Given the description of an element on the screen output the (x, y) to click on. 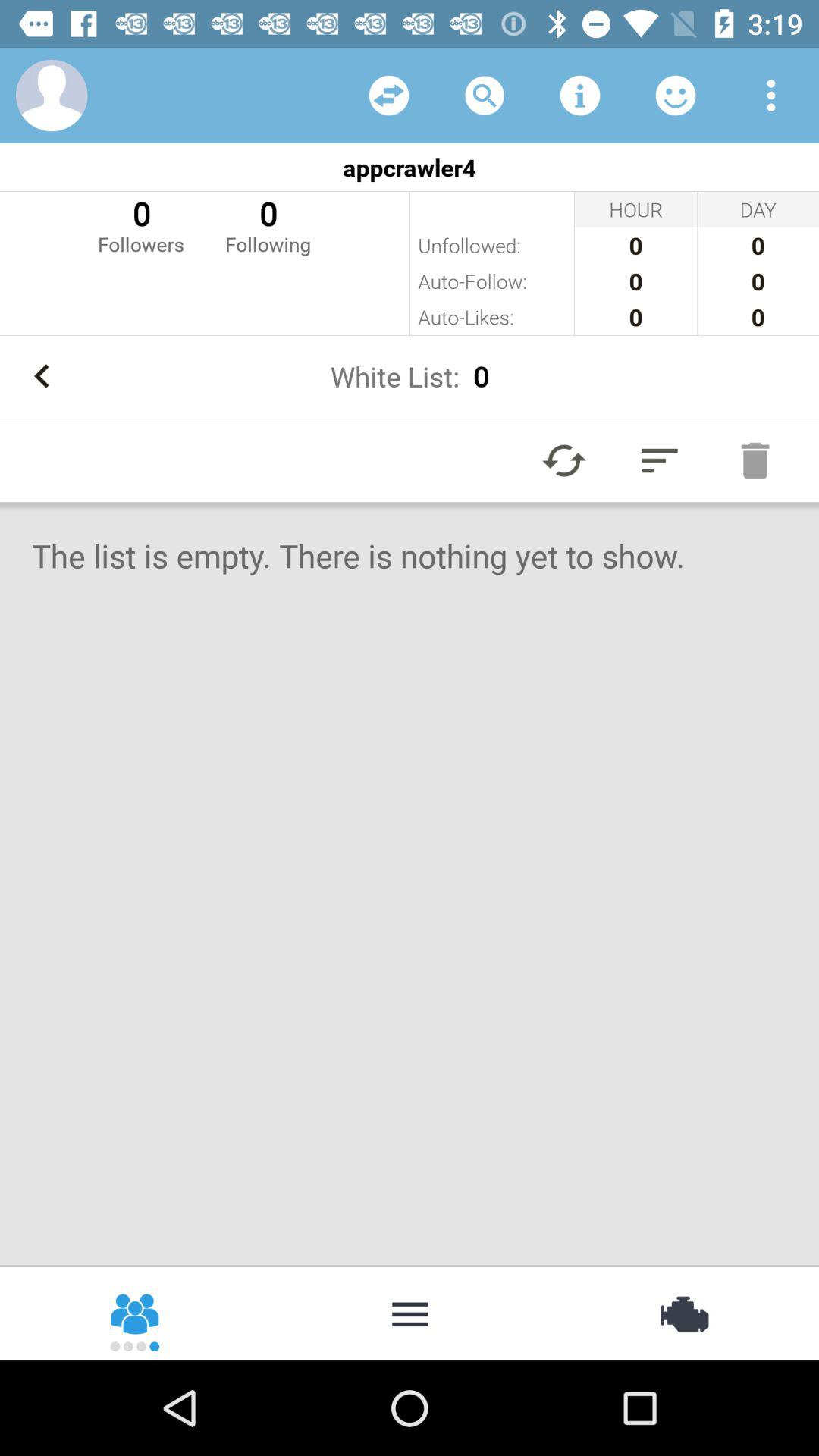
refresh area (388, 95)
